Given the description of an element on the screen output the (x, y) to click on. 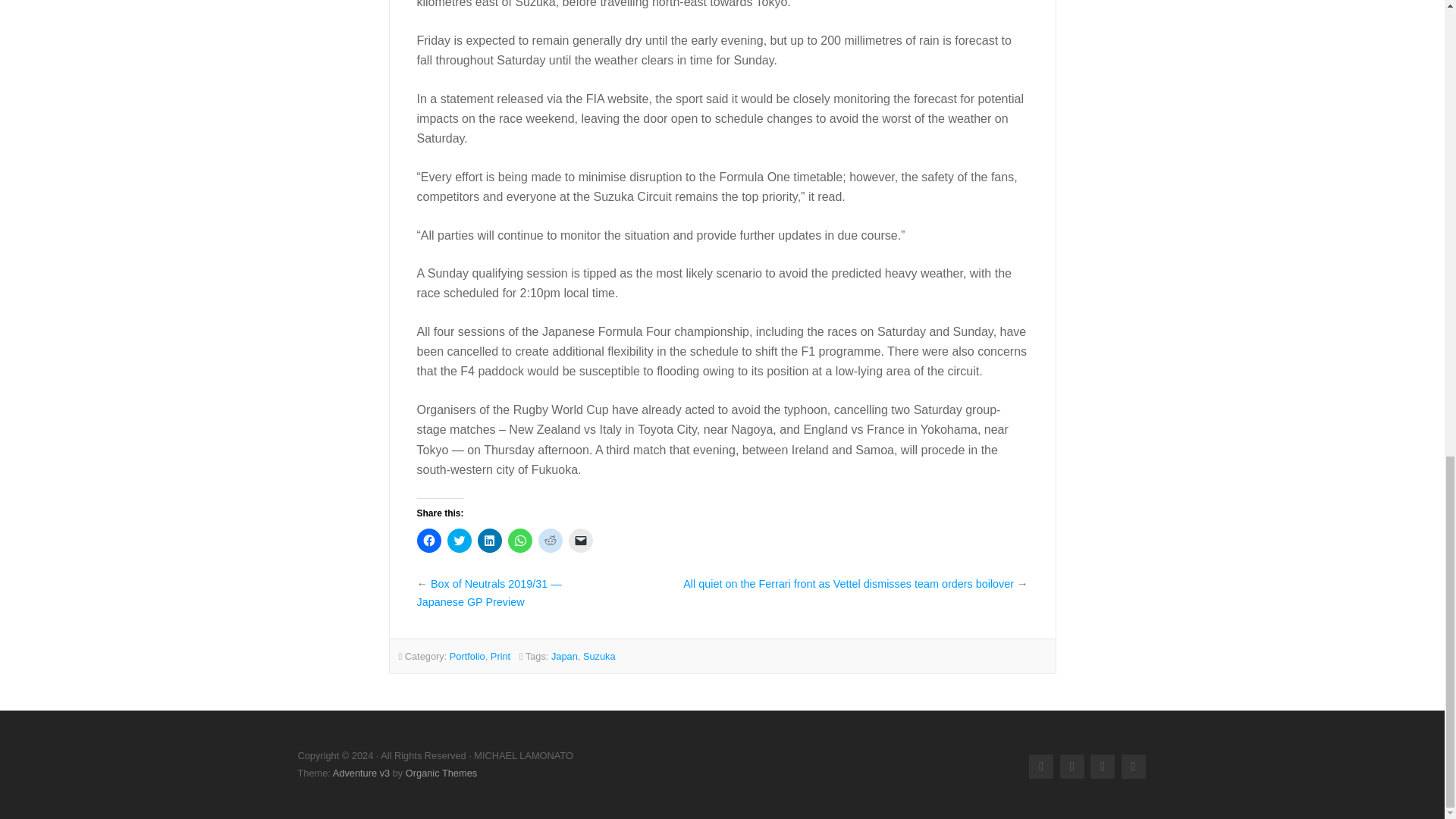
Click to share on LinkedIn (489, 540)
Click to email a link to a friend (580, 540)
Organic Themes (441, 772)
Japan (564, 655)
Click to share on Reddit (550, 540)
Adventure v3 (361, 772)
Click to share on Twitter (458, 540)
Click to share on Facebook (428, 540)
Suzuka (599, 655)
